Given the description of an element on the screen output the (x, y) to click on. 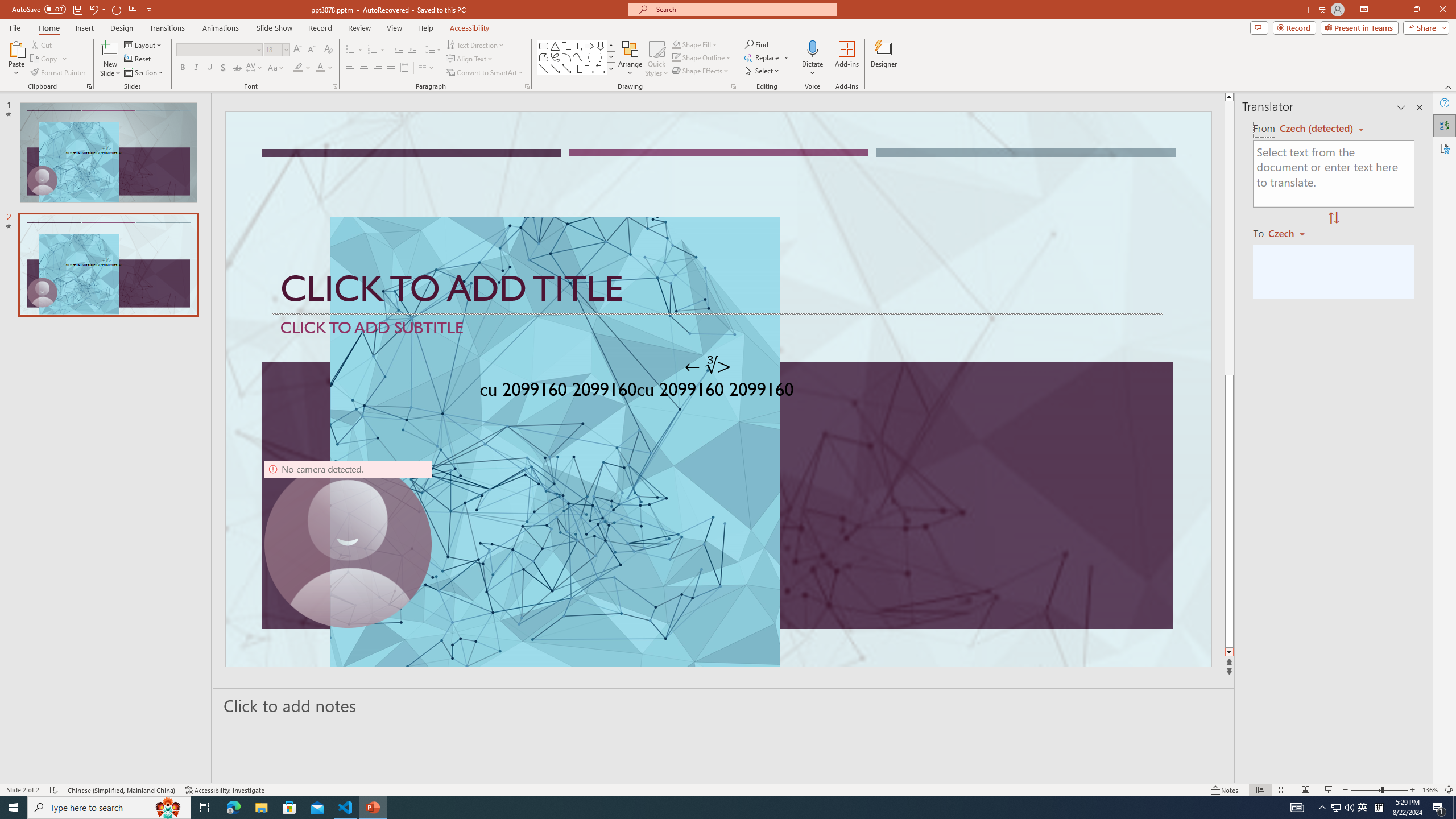
Zoom 136% (1430, 790)
